Given the description of an element on the screen output the (x, y) to click on. 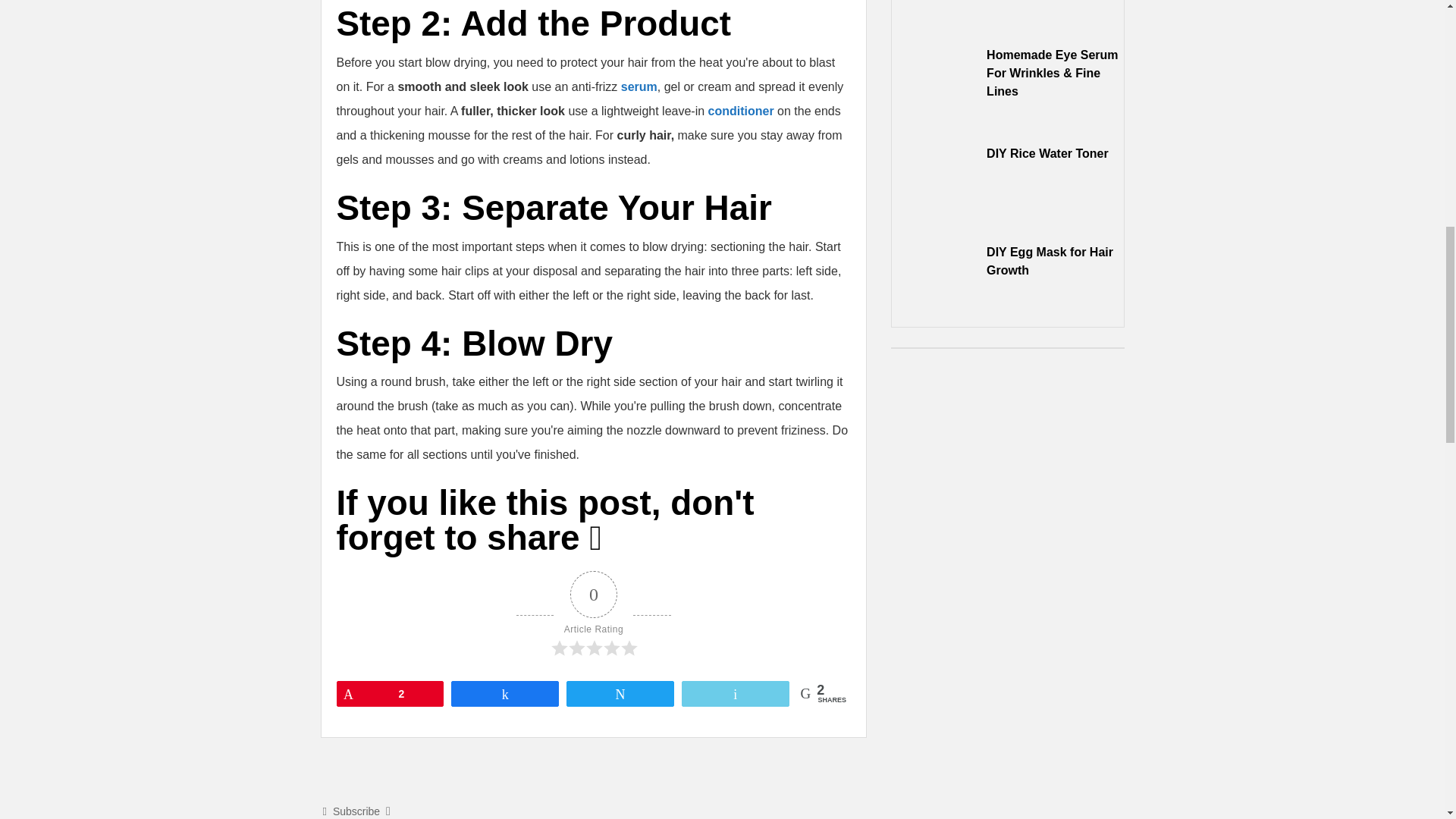
2 (389, 692)
serum (639, 86)
serum (639, 86)
conditioner (740, 110)
conditioner (740, 110)
